Given the description of an element on the screen output the (x, y) to click on. 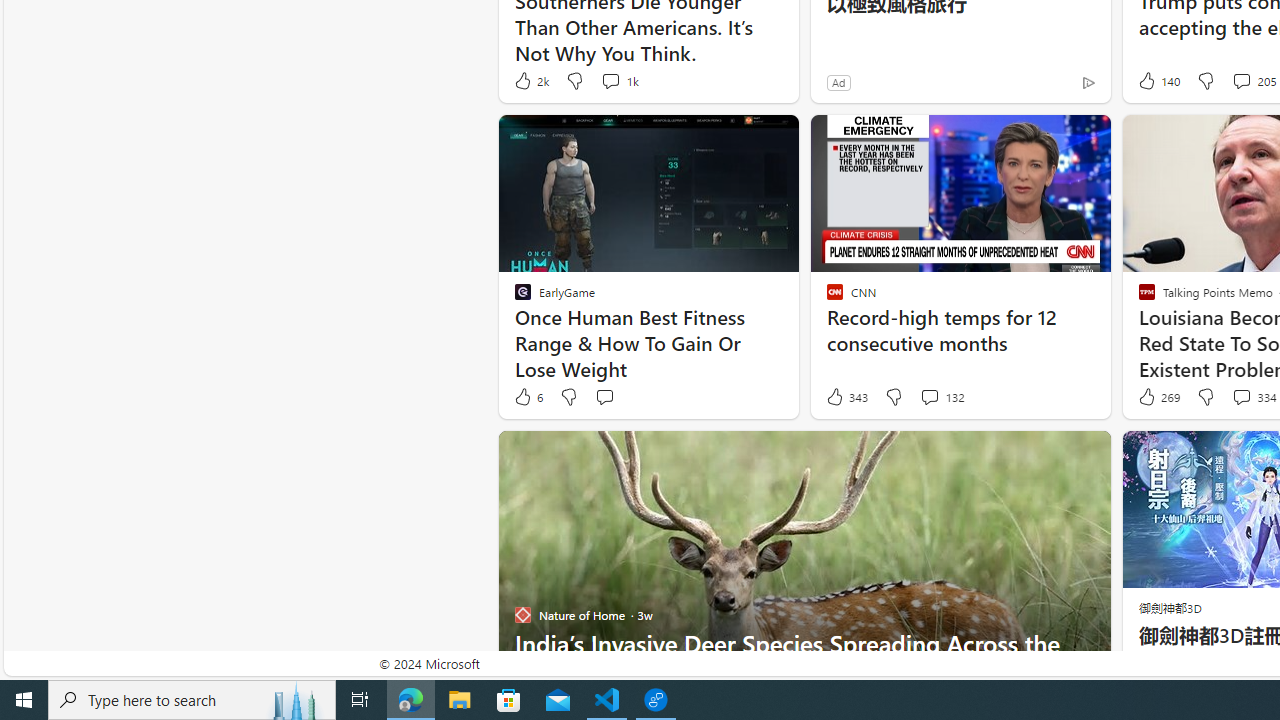
343 Like (845, 397)
View comments 334 Comment (1241, 396)
View comments 1k Comment (610, 80)
Hide this story (1050, 454)
